Given the description of an element on the screen output the (x, y) to click on. 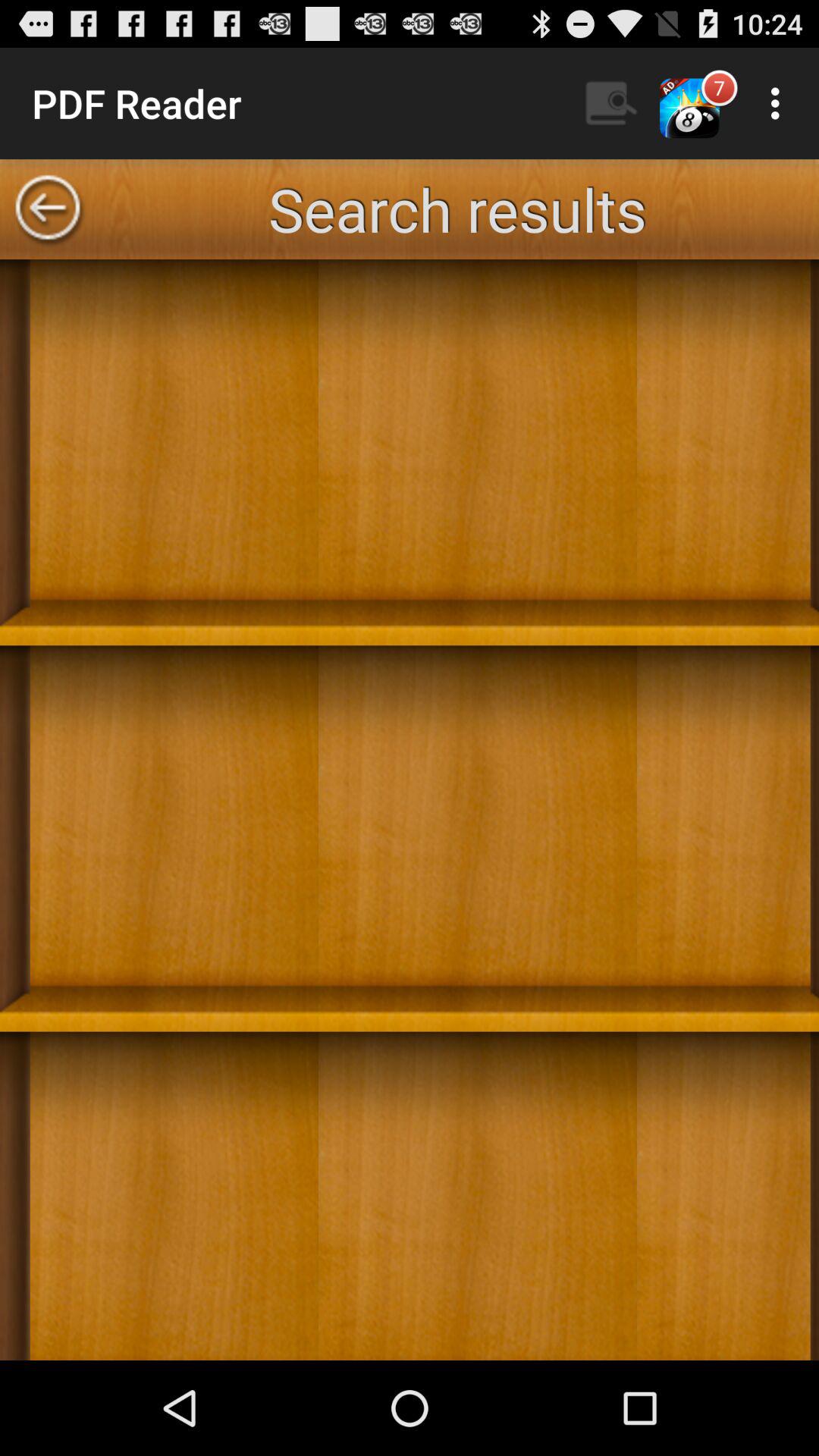
add document (409, 809)
